Given the description of an element on the screen output the (x, y) to click on. 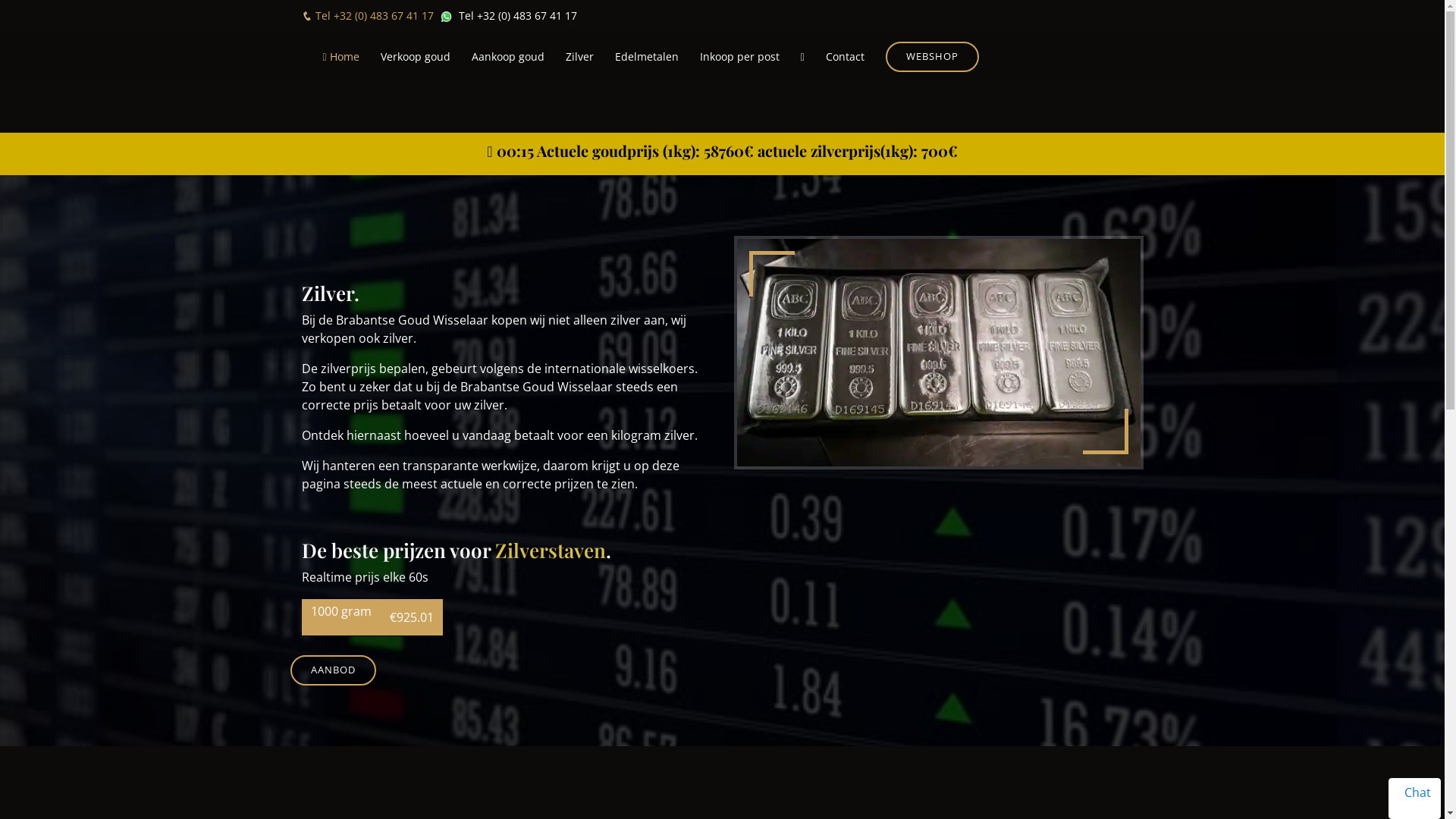
Verkoop goud Element type: text (415, 56)
Aankoop goud Element type: text (507, 56)
Edelmetalen Element type: text (646, 56)
Inkoop per post Element type: text (739, 56)
Contact Element type: text (844, 56)
WEBSHOP Element type: text (932, 56)
AANBOD Element type: text (332, 670)
Home Element type: text (341, 56)
Zilver Element type: text (579, 56)
Tel +32 (0) 483 67 41 17 Element type: text (367, 14)
